Given the description of an element on the screen output the (x, y) to click on. 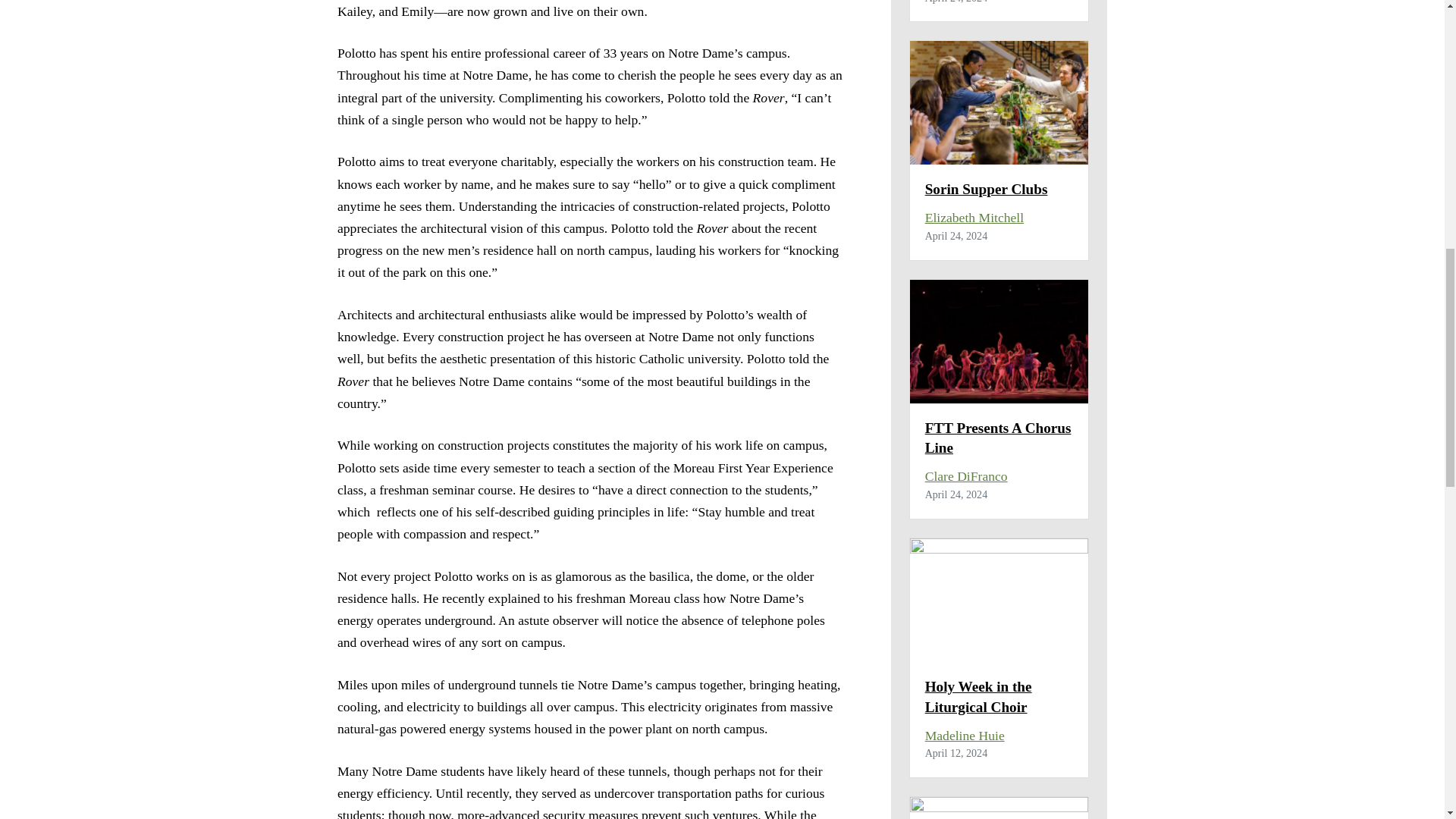
Posts by Madeline Huie (964, 735)
Posts by Elizabeth Mitchell (973, 217)
Posts by Clare DiFranco (965, 476)
Clare DiFranco (965, 476)
FTT Presents A Chorus Line (997, 438)
Sorin Supper Clubs (986, 188)
Elizabeth Mitchell (973, 217)
